Given the description of an element on the screen output the (x, y) to click on. 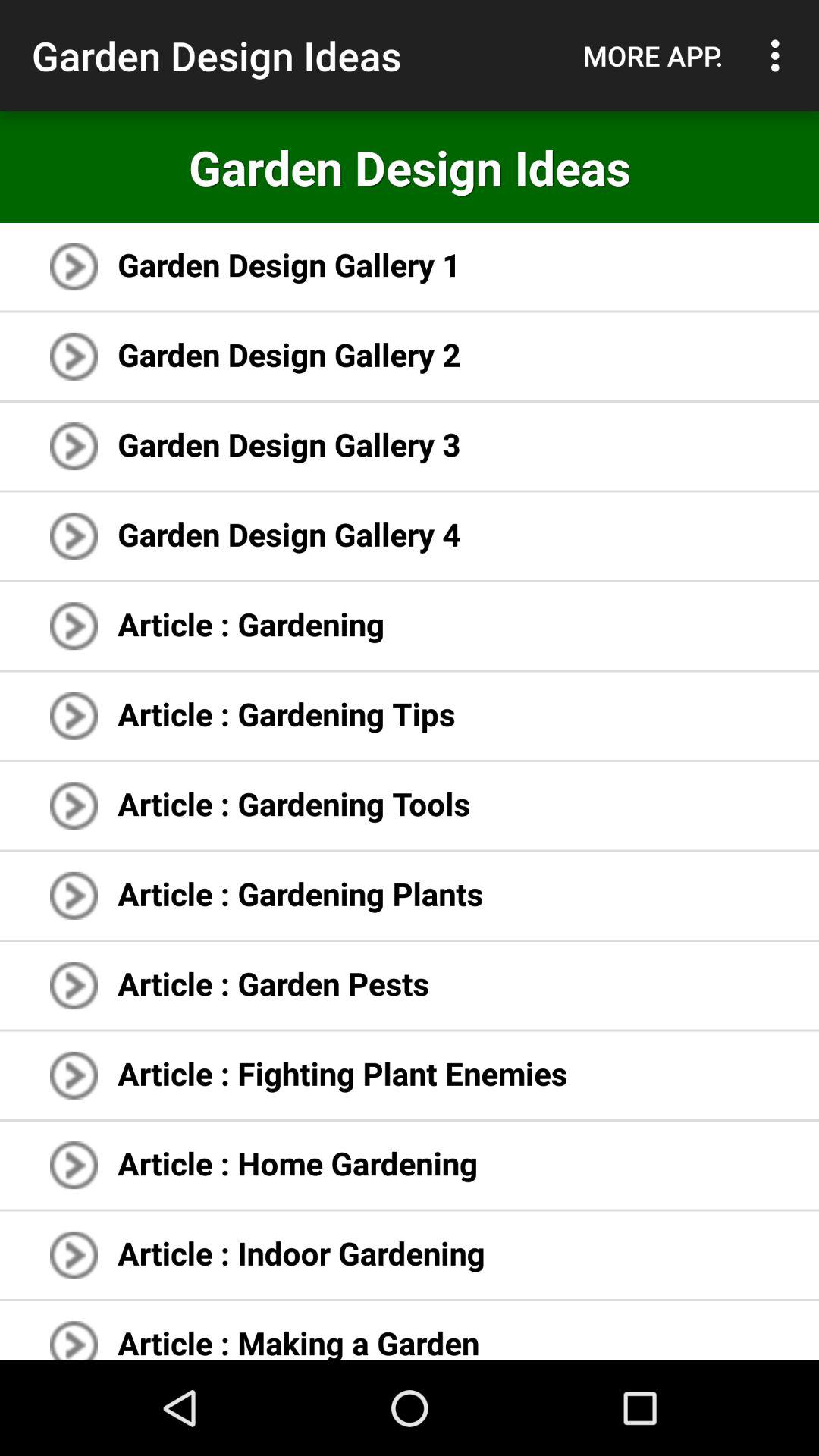
select the item above garden design ideas (779, 55)
